Given the description of an element on the screen output the (x, y) to click on. 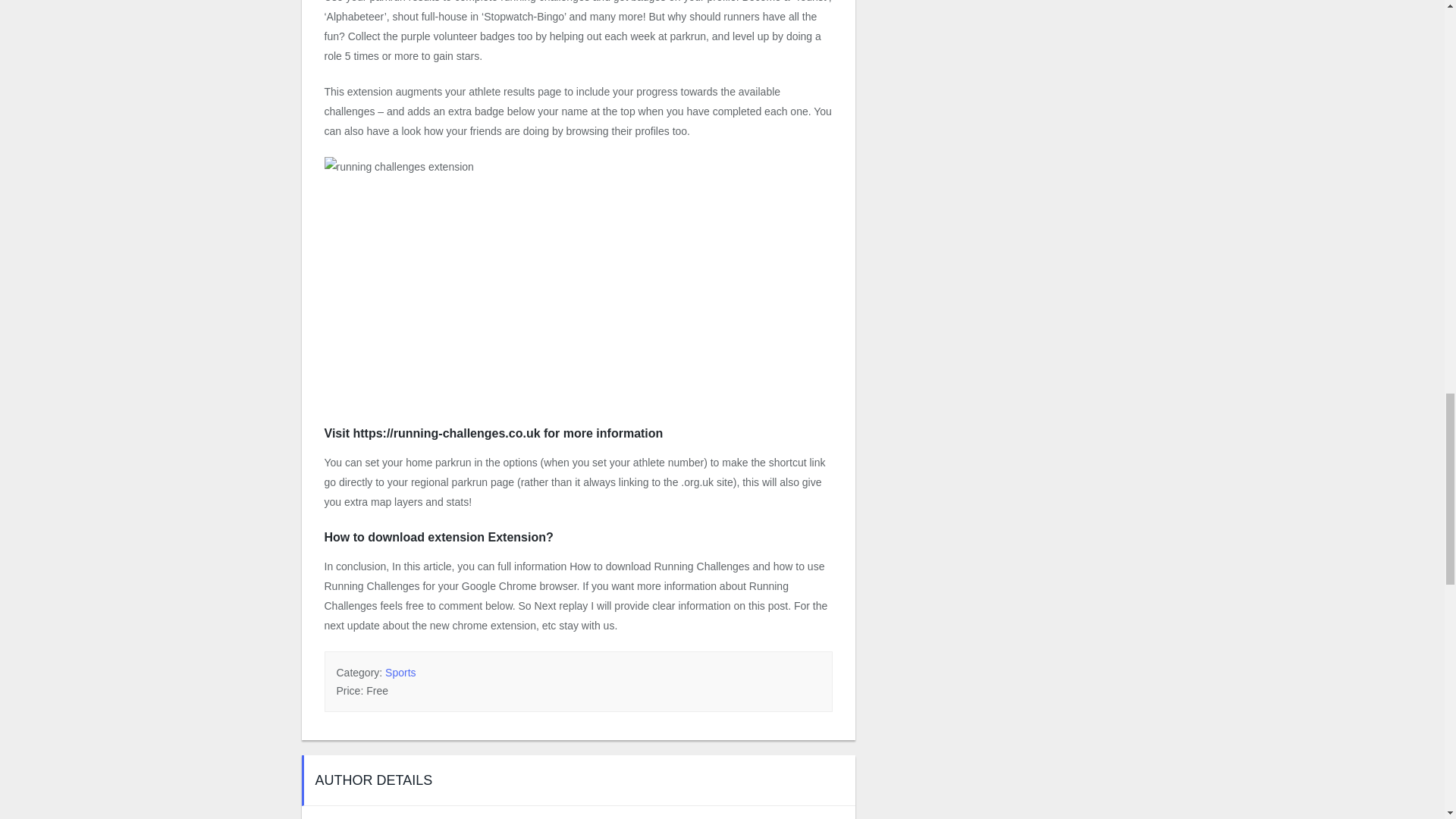
Sports (399, 672)
